Given the description of an element on the screen output the (x, y) to click on. 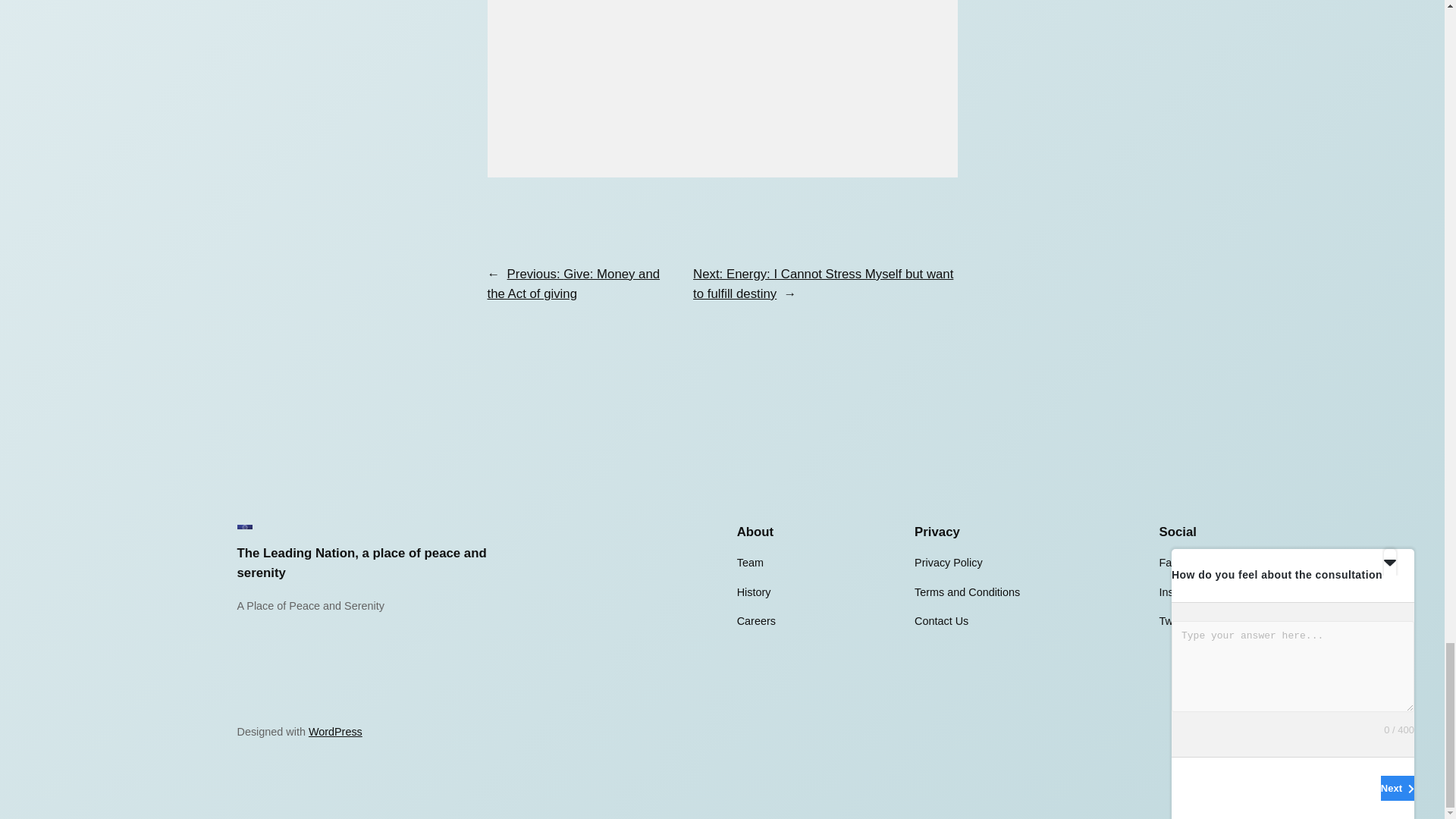
Privacy Policy (948, 562)
History (753, 591)
Comment Form (721, 88)
Previous: Give: Money and the Act of giving (572, 283)
Careers (756, 620)
Facebook (1182, 562)
Team (749, 562)
Contact Us (941, 620)
The Leading Nation, a place of peace and serenity (360, 562)
WordPress (335, 731)
Terms and Conditions (967, 591)
Instagram (1182, 591)
